Given the description of an element on the screen output the (x, y) to click on. 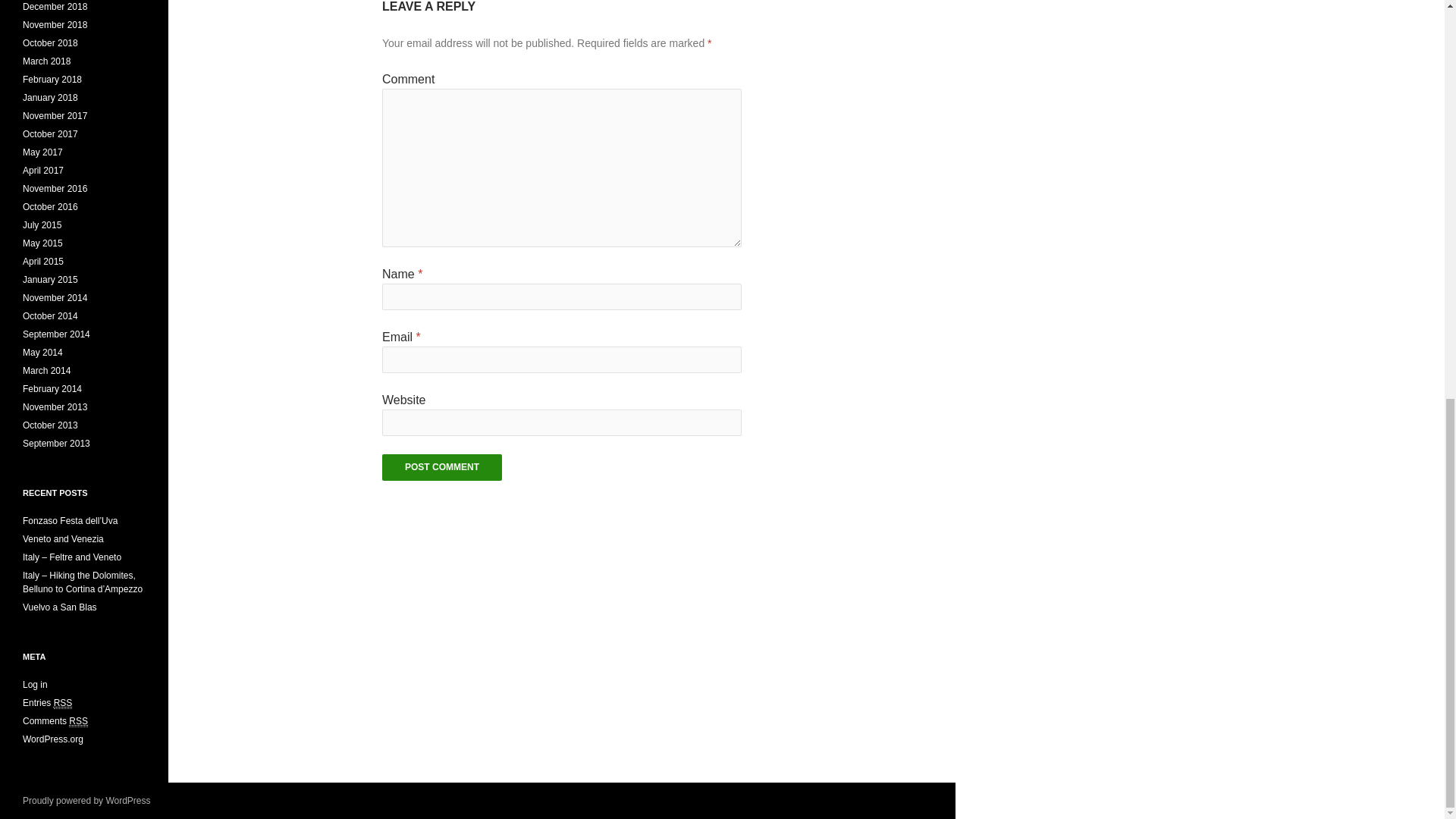
Really Simple Syndication (62, 703)
Post Comment (441, 467)
Post Comment (441, 467)
Really Simple Syndication (77, 721)
